Given the description of an element on the screen output the (x, y) to click on. 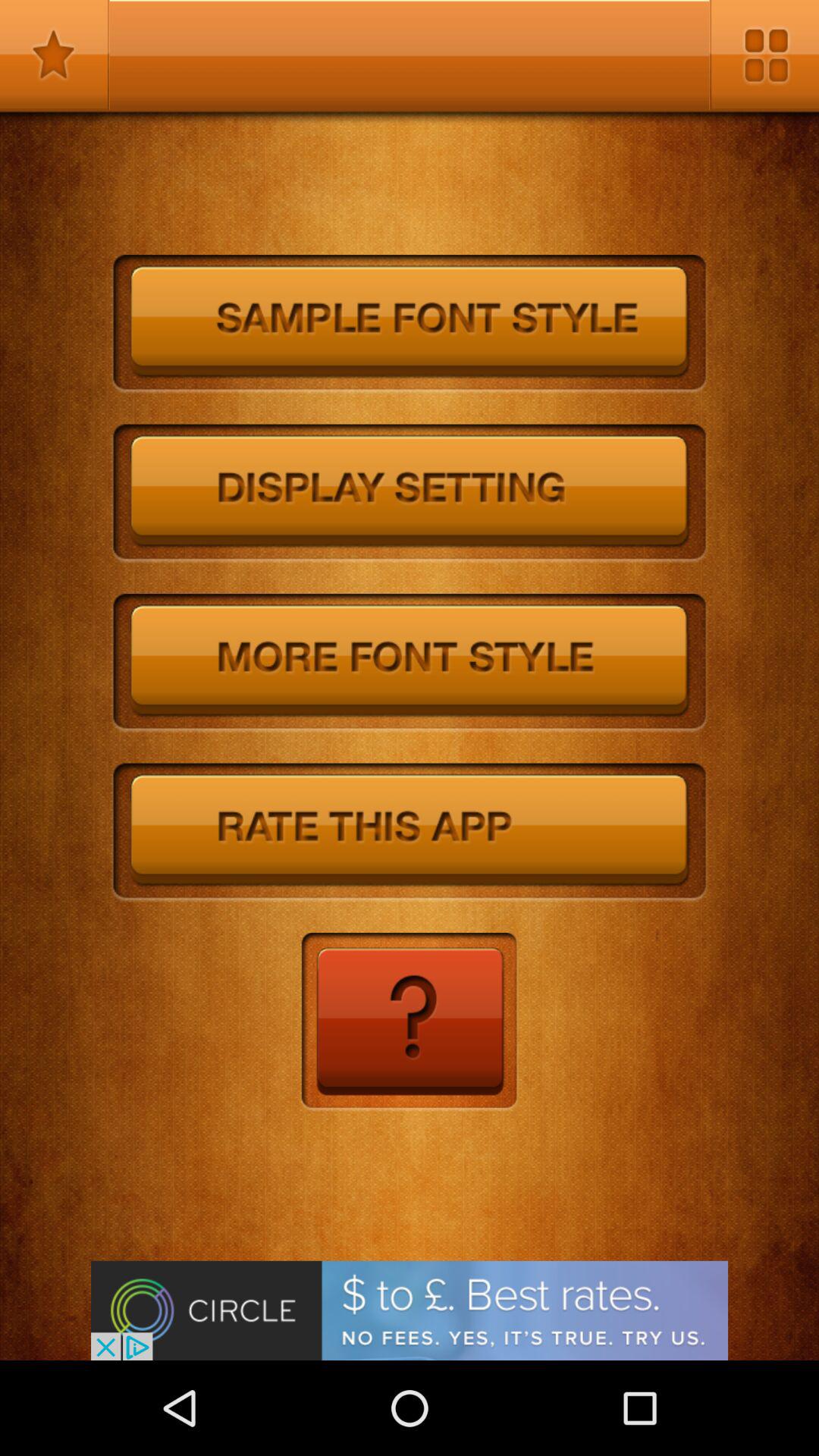
more font style menu (409, 663)
